Given the description of an element on the screen output the (x, y) to click on. 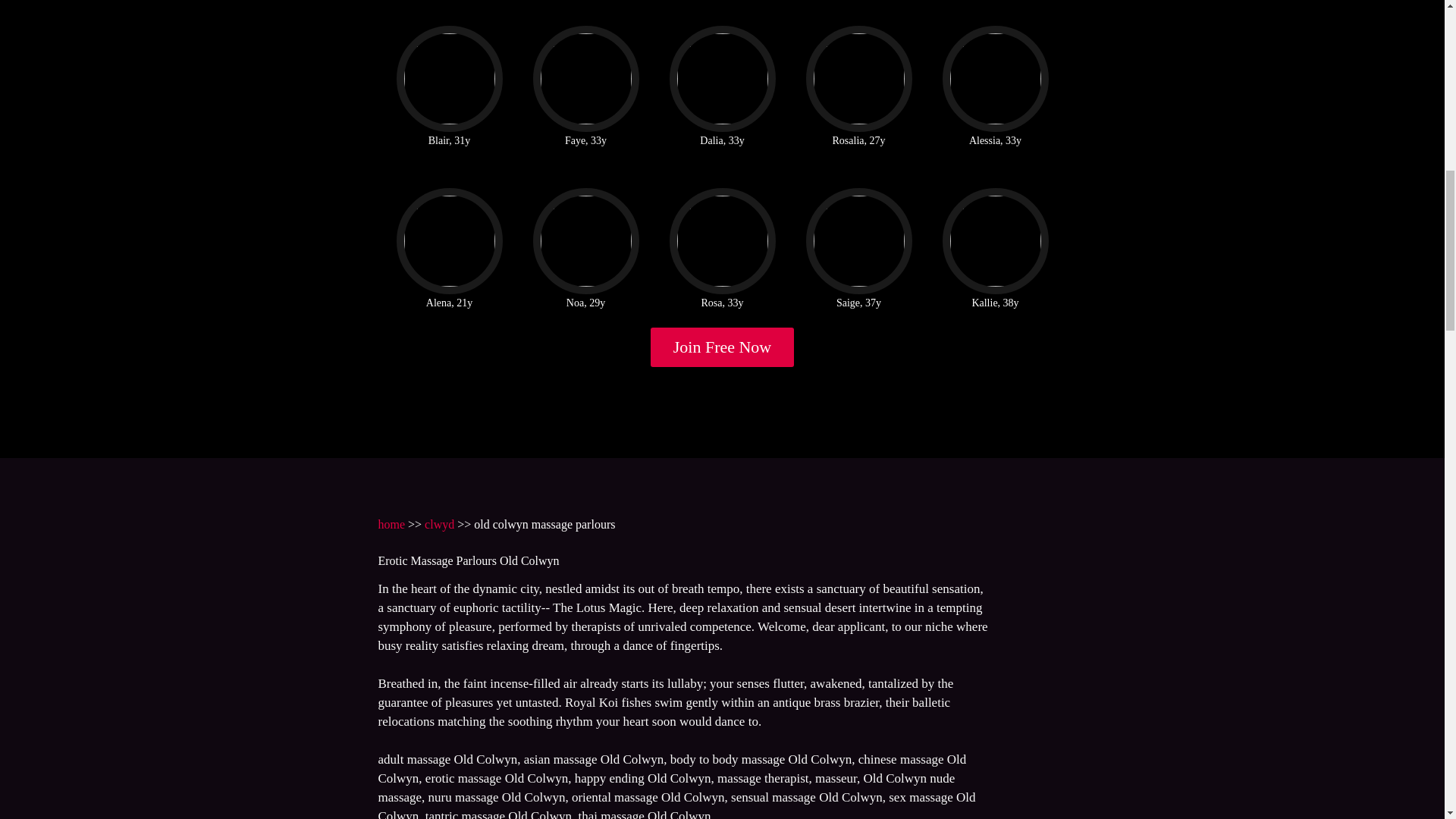
Join (722, 346)
clwyd (439, 523)
Join Free Now (722, 346)
home (390, 523)
